Given the description of an element on the screen output the (x, y) to click on. 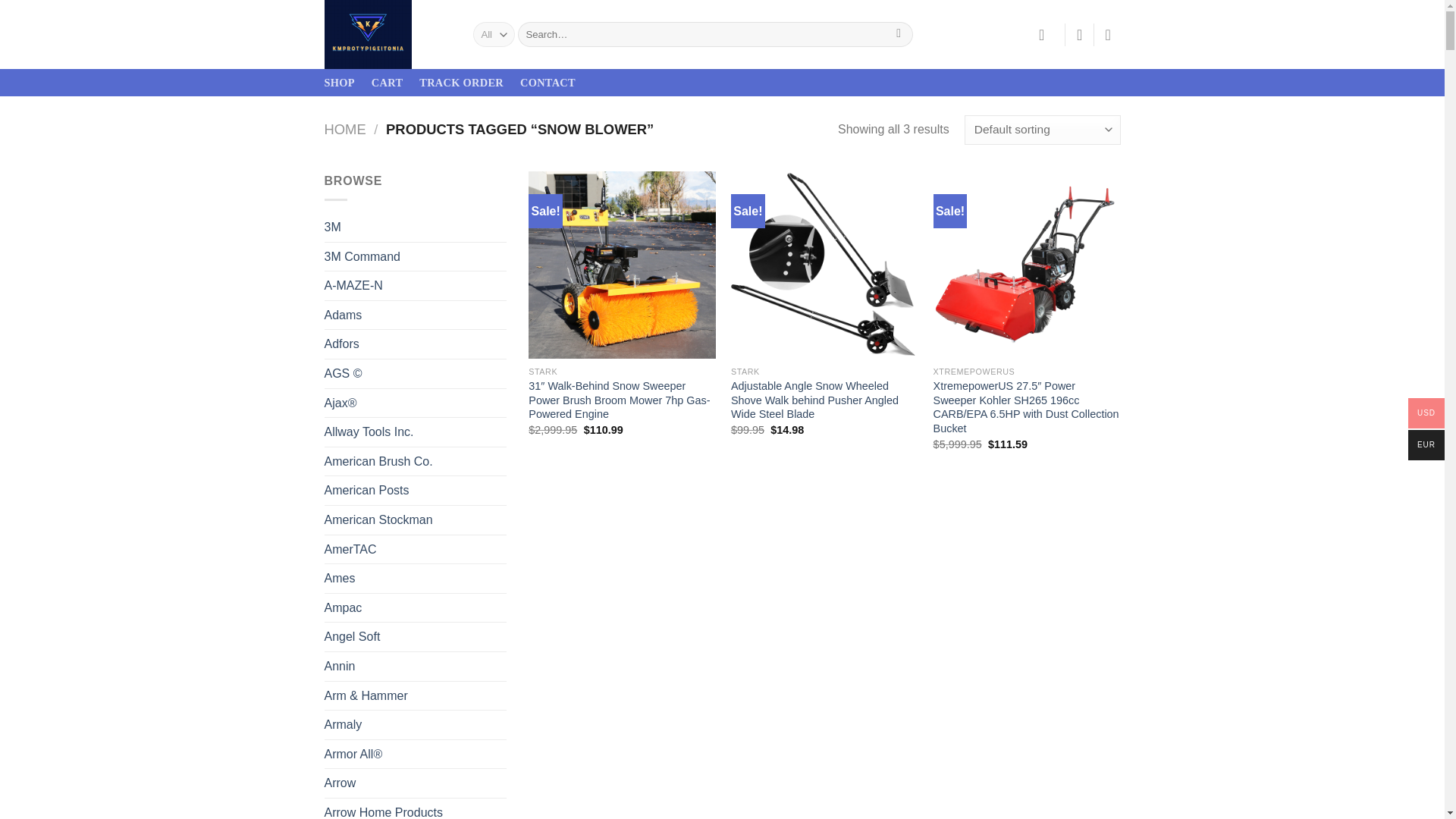
American Stockman (415, 520)
Adams (415, 315)
Allway Tools Inc. (415, 431)
Ames (415, 578)
Angel Soft (415, 636)
Ampac (415, 607)
Armaly (415, 724)
Annin (415, 665)
American Brush Co. (415, 461)
3M Command (415, 256)
CART (387, 82)
A-MAZE-N (415, 285)
3M (415, 226)
Arrow (415, 783)
HOME (345, 129)
